Given the description of an element on the screen output the (x, y) to click on. 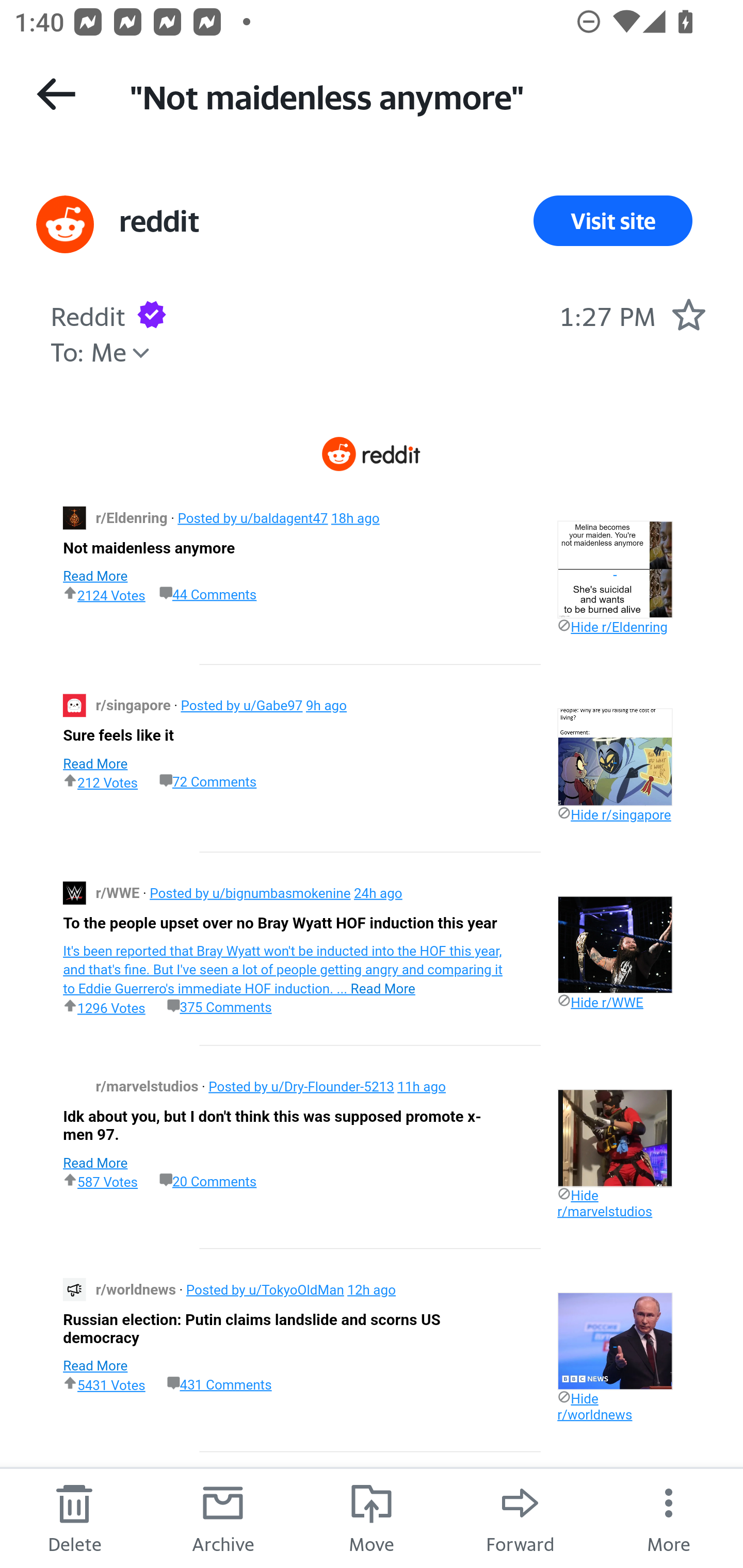
Back (55, 93)
"Not maidenless anymore" (418, 94)
View all messages from sender (64, 225)
Visit site Visit Site Link (612, 221)
reddit Sender reddit (158, 220)
Reddit Sender Reddit (88, 314)
Mark as starred. (688, 314)
gGQSRnw6nwZCjoHTOoZ-3LgU_Sku13vJcCLvzbN8ZZM=344 (74, 516)
r/Eldenring (132, 517)
Posted by u/baldagent47 (252, 517)
18h ago (354, 517)
  (614, 568)
Not maidenless anymore (148, 546)
Read More (94, 575)
2124 Votes (103, 593)
44 Comments (208, 594)
Hide r/Eldenring (611, 626)
PgMtD8M1QVPTxgWakxZT4rOek28rOwceoA12MWIm7Xs=344 (74, 705)
r/singapore (134, 705)
Posted by u/Gabe97 (241, 705)
9h ago (325, 705)
  (614, 756)
Sure feels like it (118, 734)
Read More (94, 763)
212 Votes (100, 781)
72 Comments (208, 781)
Hide r/singapore (613, 814)
aZxB4w3s_dv1ZVMY8CrjHQh6T77mjsPmCr6AbWd1azI=344 (74, 892)
r/WWE (118, 892)
Posted by u/bignumbasmokenine (249, 892)
24h ago (377, 892)
  (614, 943)
Hide r/WWE (600, 1001)
1296 Votes (103, 1006)
375 Comments (219, 1007)
r/marvelstudios (148, 1086)
Posted by u/Dry-Flounder-5213 (301, 1086)
11h ago (421, 1086)
  (614, 1137)
Read More (94, 1162)
587 Votes (100, 1180)
20 Comments (208, 1181)
Hide r/marvelstudios (604, 1202)
Mhnivg5-45RFII3y5qEn53_Dwaj7Y5Bar--m8-SpGtA=344 (74, 1288)
r/worldnews (137, 1289)
Posted by u/TokyoOldMan (264, 1289)
12h ago (371, 1289)
  (614, 1340)
Read More (94, 1365)
5431 Votes (103, 1384)
431 Comments (219, 1383)
Hide r/worldnews (594, 1405)
Delete (74, 1517)
Archive (222, 1517)
Move (371, 1517)
Forward (519, 1517)
More (668, 1517)
